Given the description of an element on the screen output the (x, y) to click on. 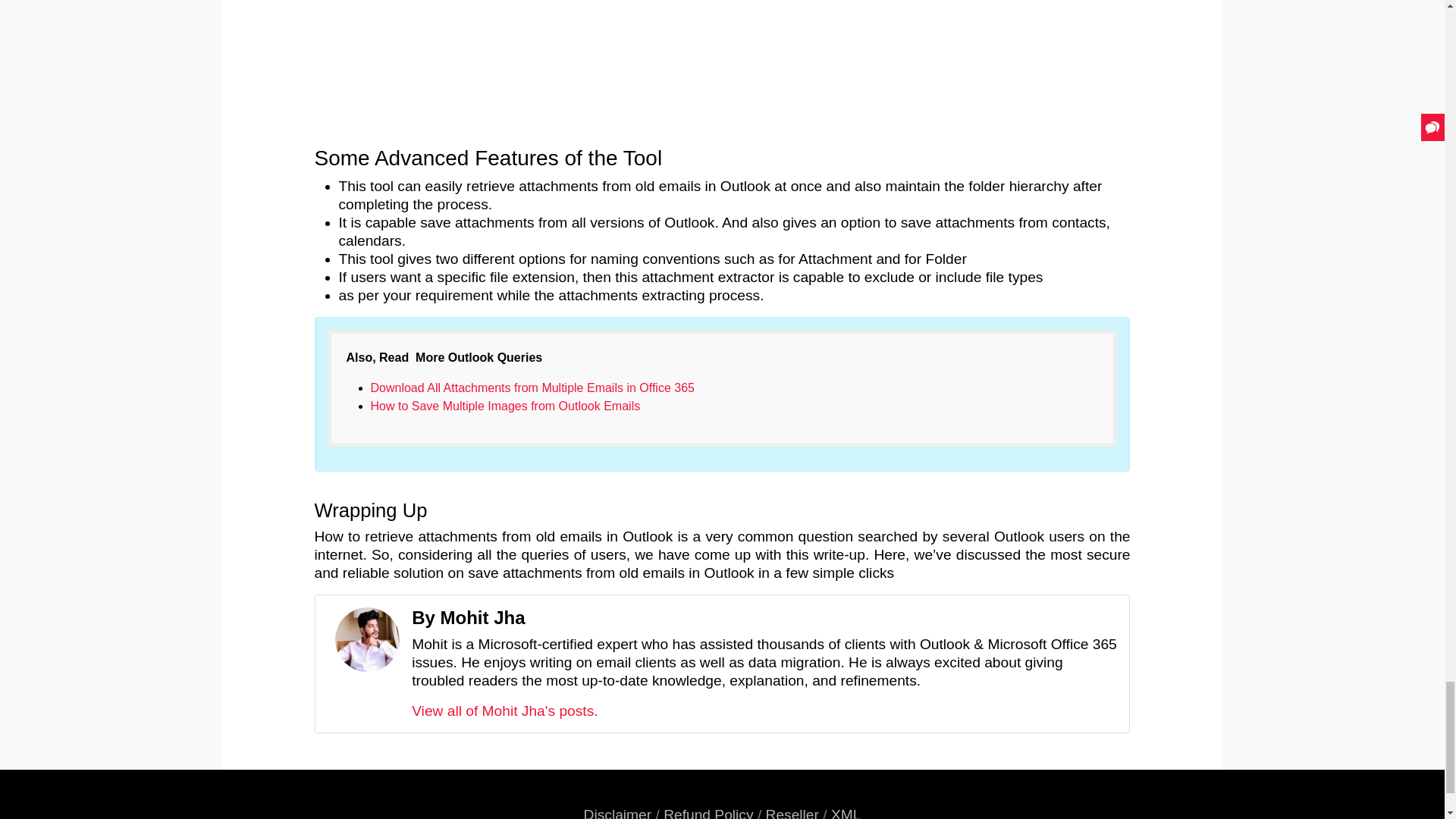
XML (845, 812)
View all of Mohit Jha's posts. (504, 710)
Download All Attachments from Multiple Emails in Office 365 (531, 387)
Refund Policy (707, 812)
Disclaimer (617, 812)
How to Save Multiple Images from Outlook Emails (504, 405)
Reseller (791, 812)
